Given the description of an element on the screen output the (x, y) to click on. 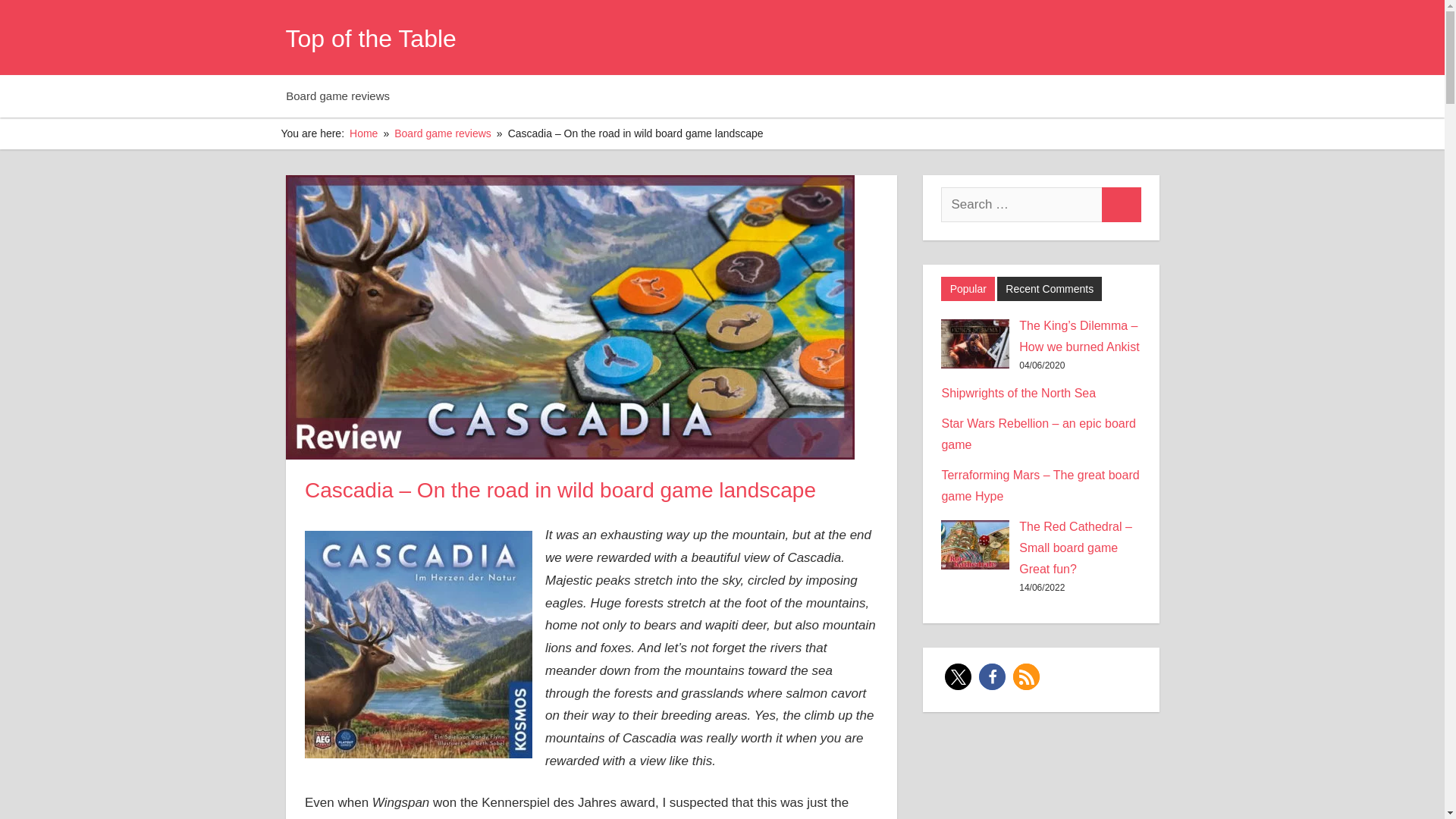
Shipwrights of the North Sea (1018, 392)
Cascadia Board Game Cover (418, 644)
Recent Comments (1049, 289)
Board game reviews (443, 133)
Search (1121, 204)
Search for: (1021, 204)
Mail (1140, 37)
Top of the Table (370, 38)
Twitter (1104, 37)
Board game reviews (341, 96)
SEARCH (516, 37)
Home (363, 133)
Popular (967, 289)
